Given the description of an element on the screen output the (x, y) to click on. 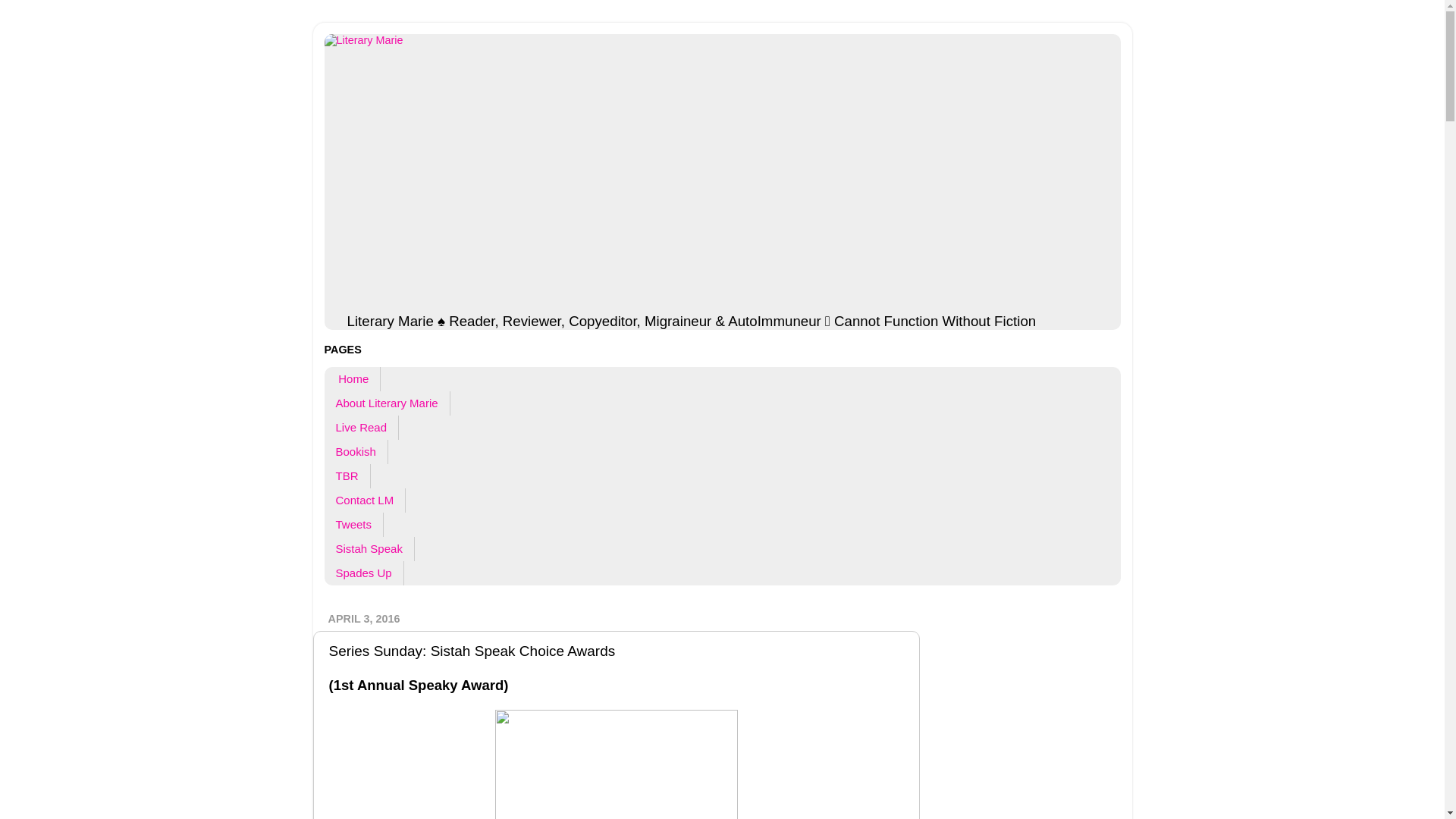
Bookish (356, 451)
Contact LM (365, 500)
Sistah Speak (369, 549)
Spades Up (364, 573)
Tweets (354, 524)
About Literary Marie (386, 403)
TBR (347, 476)
Home (352, 378)
Live Read (361, 427)
